Given the description of an element on the screen output the (x, y) to click on. 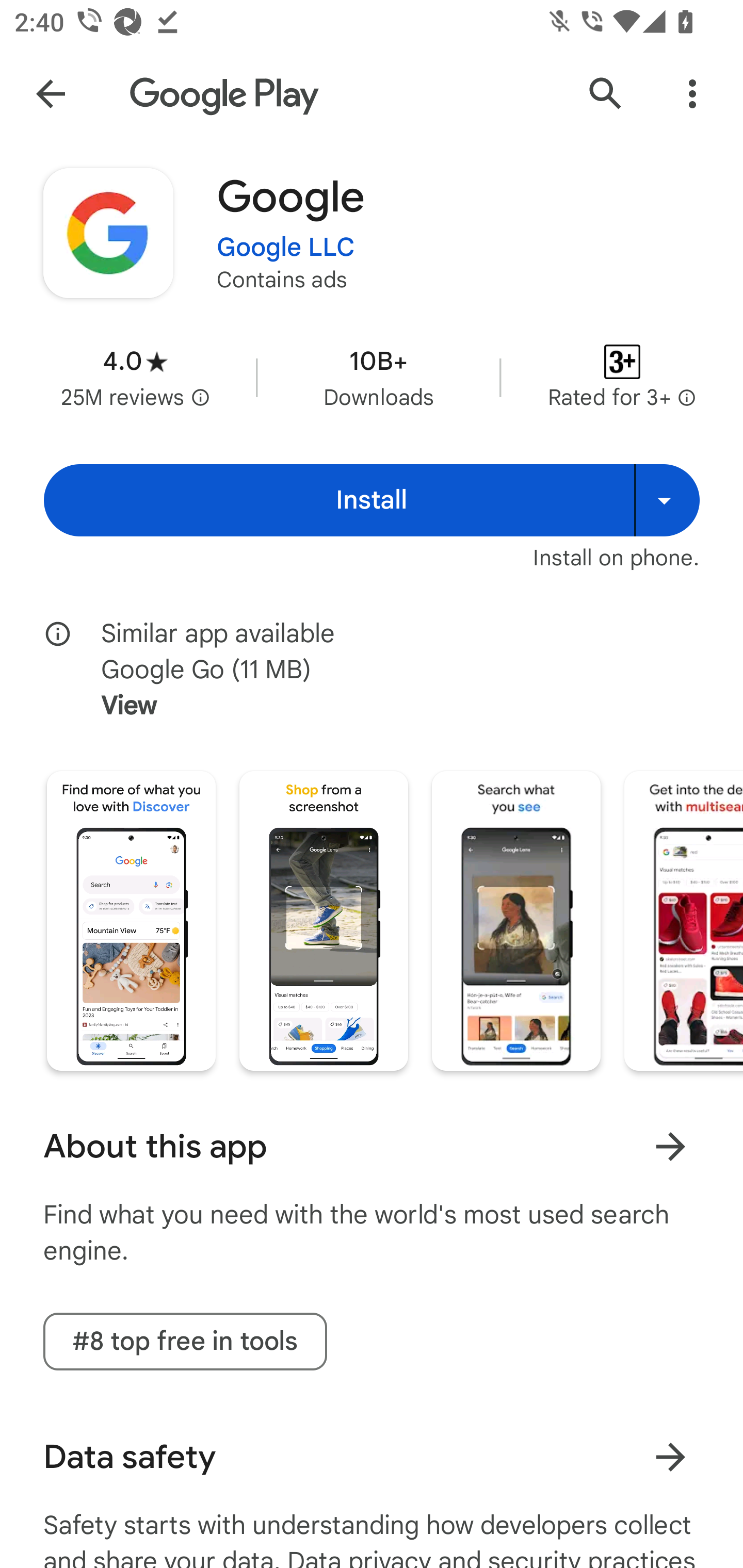
Navigate up (50, 93)
Search Google Play (605, 93)
More Options (692, 93)
Google LLC (285, 247)
Average rating 4.0 stars in 25 million reviews (135, 377)
Content rating Rated for 3+ (622, 377)
Install Install Install on more devices (371, 500)
Install on more devices (667, 500)
Similar app available
Google Go (11 MB)
View (385, 670)
Screenshot "1" of "5" (130, 920)
Screenshot "2" of "5" (323, 920)
Screenshot "3" of "5" (515, 920)
Screenshot "4" of "5" (683, 920)
About this app Learn more About this app (371, 1146)
Learn more About this app (670, 1146)
#8 top free in tools tag (184, 1341)
Data safety Learn more about data safety (371, 1457)
Learn more about data safety (670, 1457)
